Given the description of an element on the screen output the (x, y) to click on. 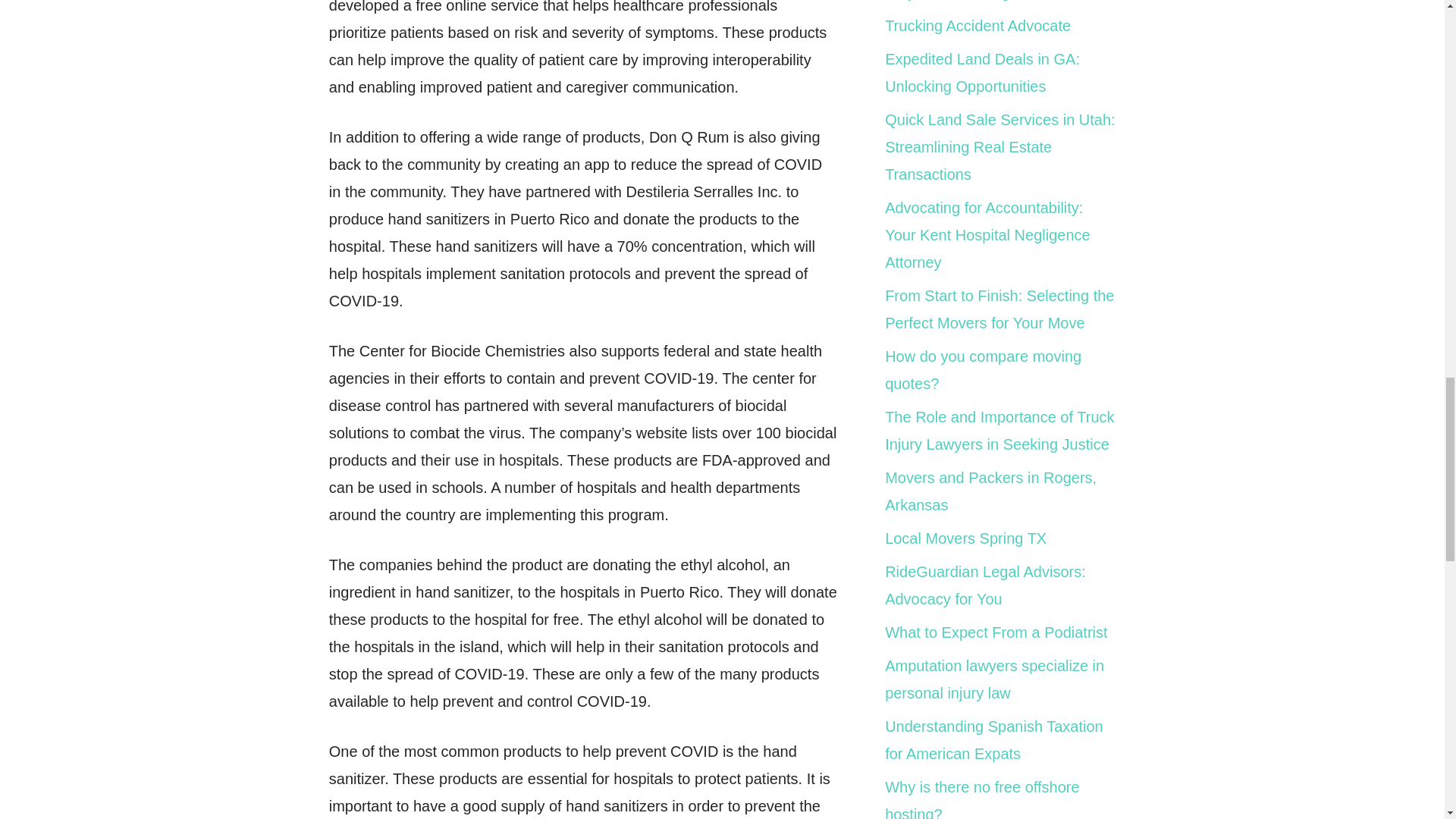
How do you compare moving quotes? (983, 370)
Trucking Accident Advocate (977, 25)
Expedited Land Deals in GA: Unlocking Opportunities (982, 72)
Local Movers Spring TX (965, 538)
Movers and Packers in Rogers, Arkansas (990, 491)
